Given the description of an element on the screen output the (x, y) to click on. 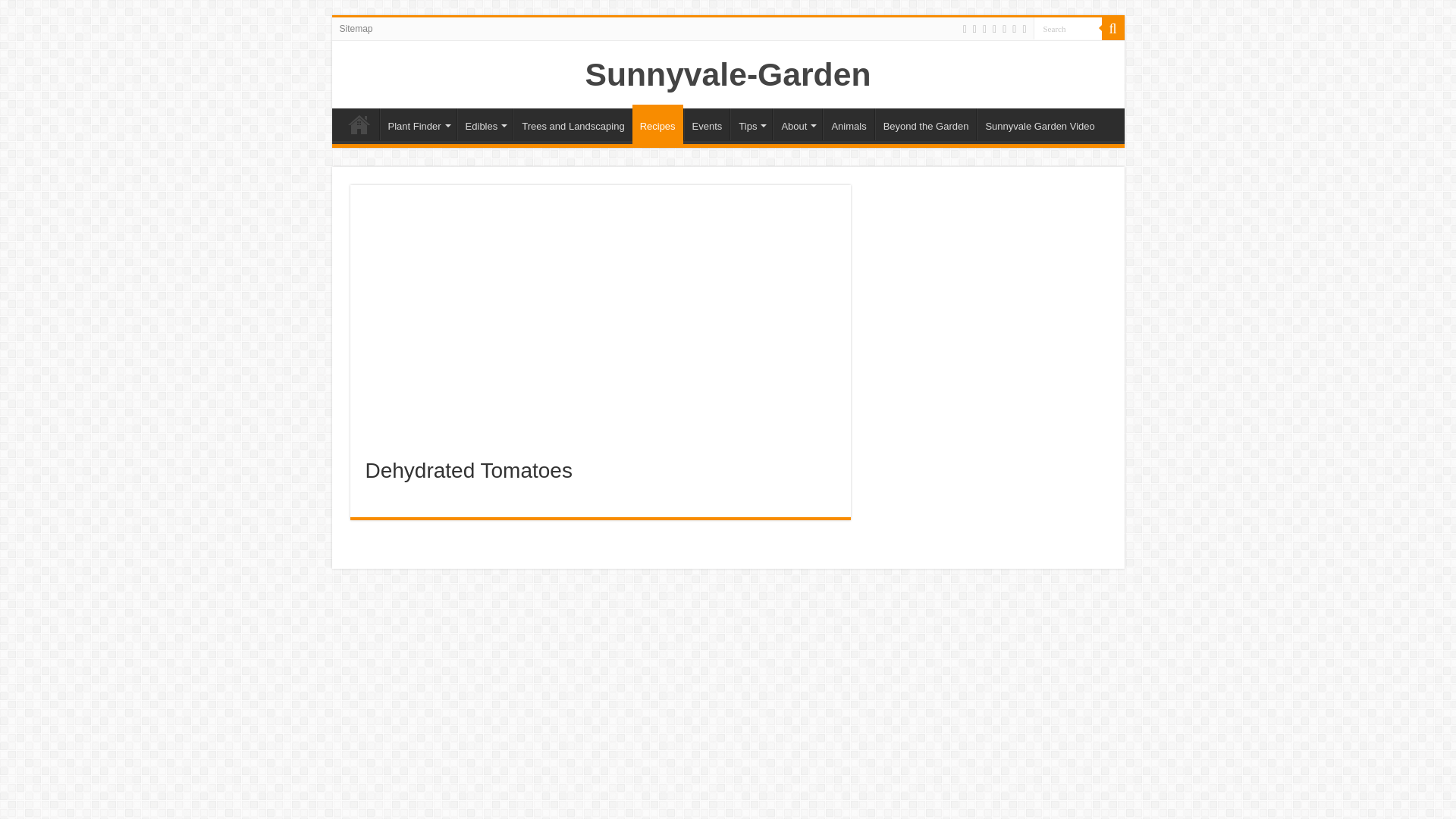
Search (1066, 28)
Search (1066, 28)
Tips (750, 124)
Search (1066, 28)
Events (707, 124)
Home (358, 124)
Sunnyvale-Garden (727, 74)
Trees and Landscaping (572, 124)
Edibles (485, 124)
Search (1112, 28)
